Given the description of an element on the screen output the (x, y) to click on. 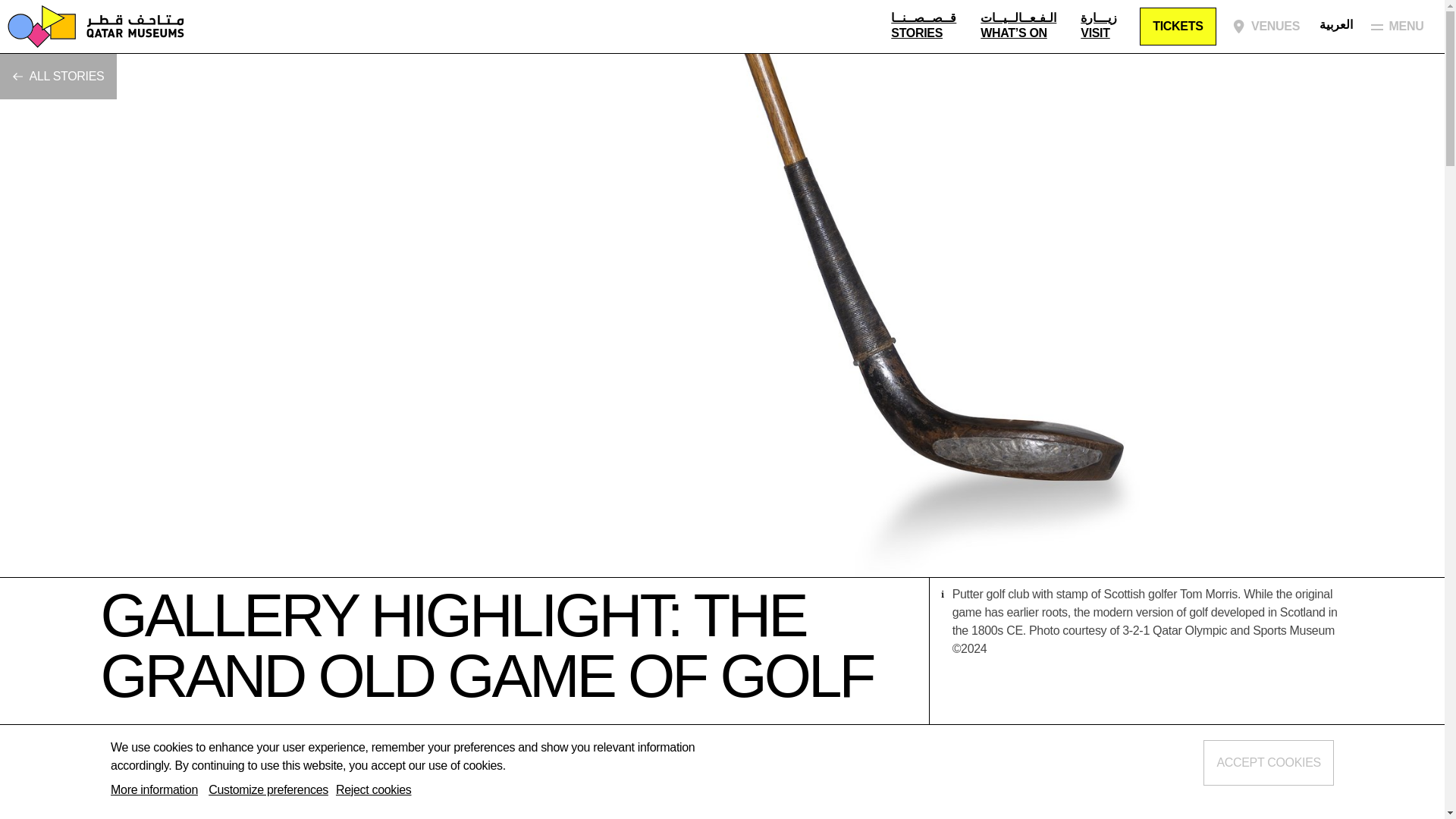
VENUES (1267, 26)
TICKETS (1177, 26)
ALL STORIES (58, 76)
MENU (1403, 26)
STORIES (923, 32)
VISIT (1098, 32)
